Given the description of an element on the screen output the (x, y) to click on. 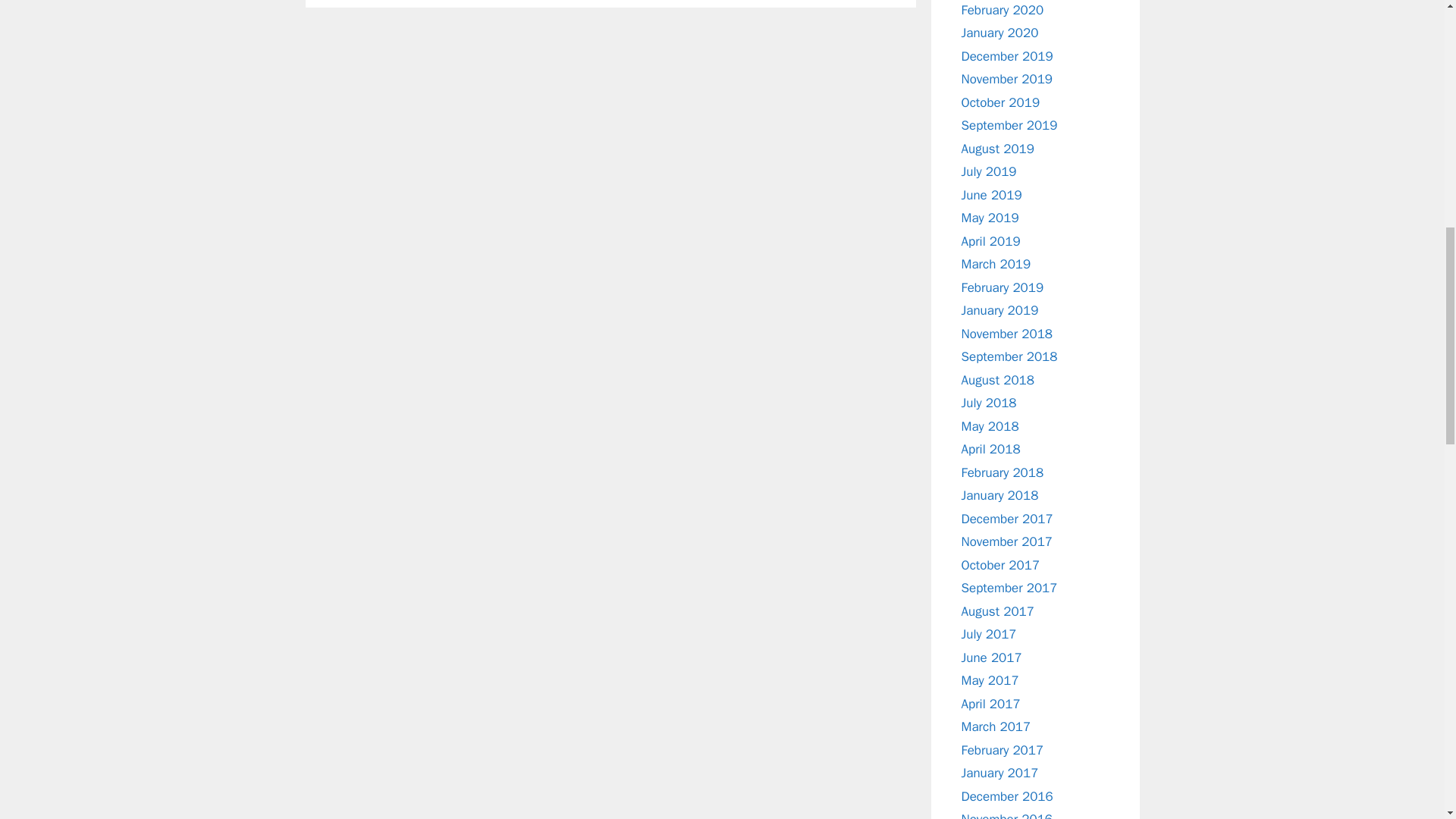
April 2019 (990, 241)
October 2019 (1000, 101)
November 2019 (1006, 78)
September 2019 (1009, 125)
February 2019 (1001, 286)
August 2019 (996, 148)
March 2019 (995, 263)
September 2018 (1009, 356)
January 2019 (999, 310)
July 2019 (988, 171)
June 2019 (991, 194)
January 2020 (999, 32)
November 2018 (1006, 333)
May 2019 (989, 217)
December 2019 (1006, 56)
